Given the description of an element on the screen output the (x, y) to click on. 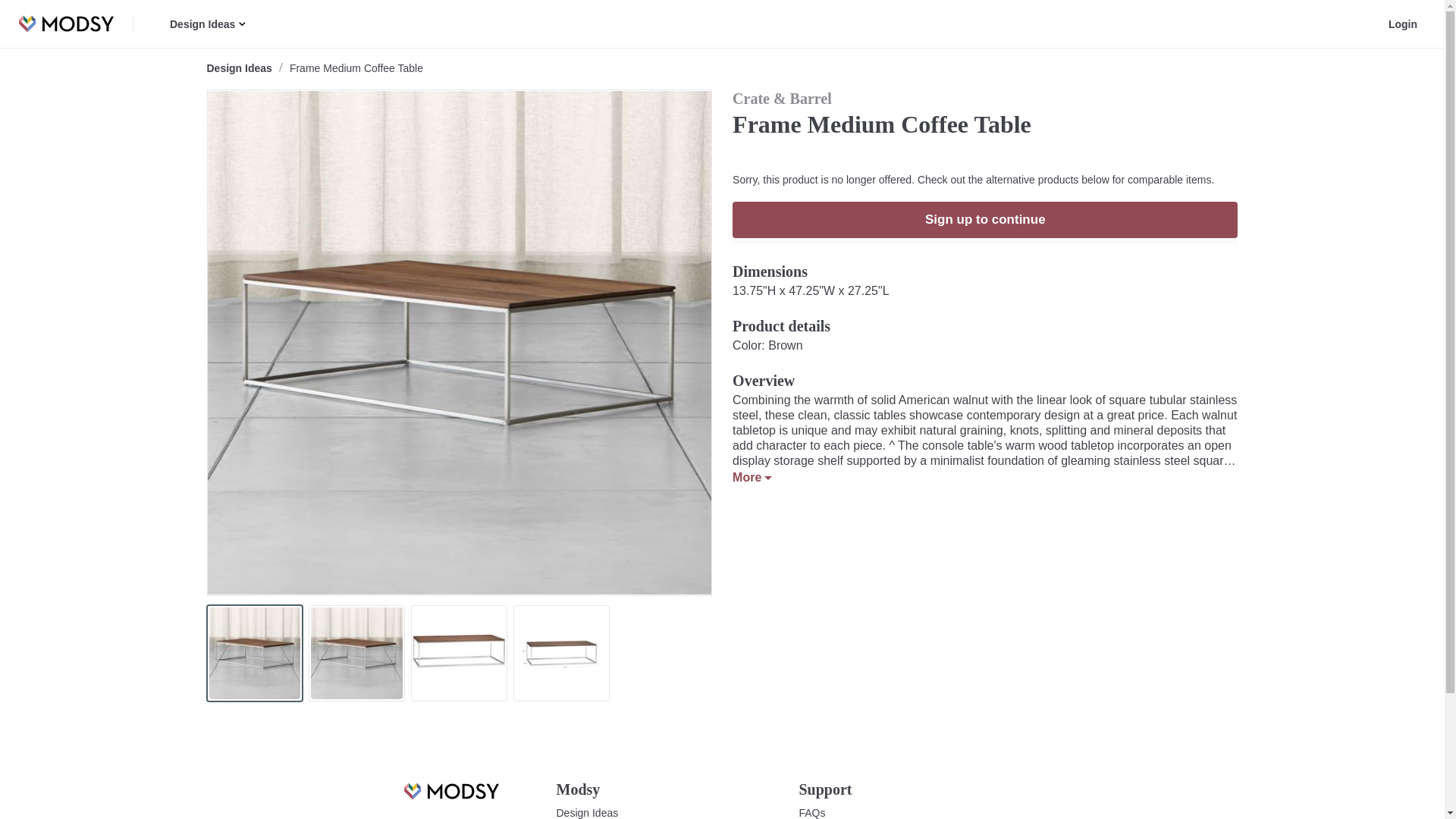
Frame Medium Coffee Table (356, 68)
More (751, 477)
Design Ideas (587, 812)
FAQs (812, 812)
Login (1402, 23)
Go to modsy homepageLogo to redirect to modsy homepage (451, 798)
Sign up to continue (984, 219)
Design Ideas (238, 68)
Design Ideas (204, 23)
Go to modsy homepageLogo to redirect to modsy homepage (451, 791)
